Given the description of an element on the screen output the (x, y) to click on. 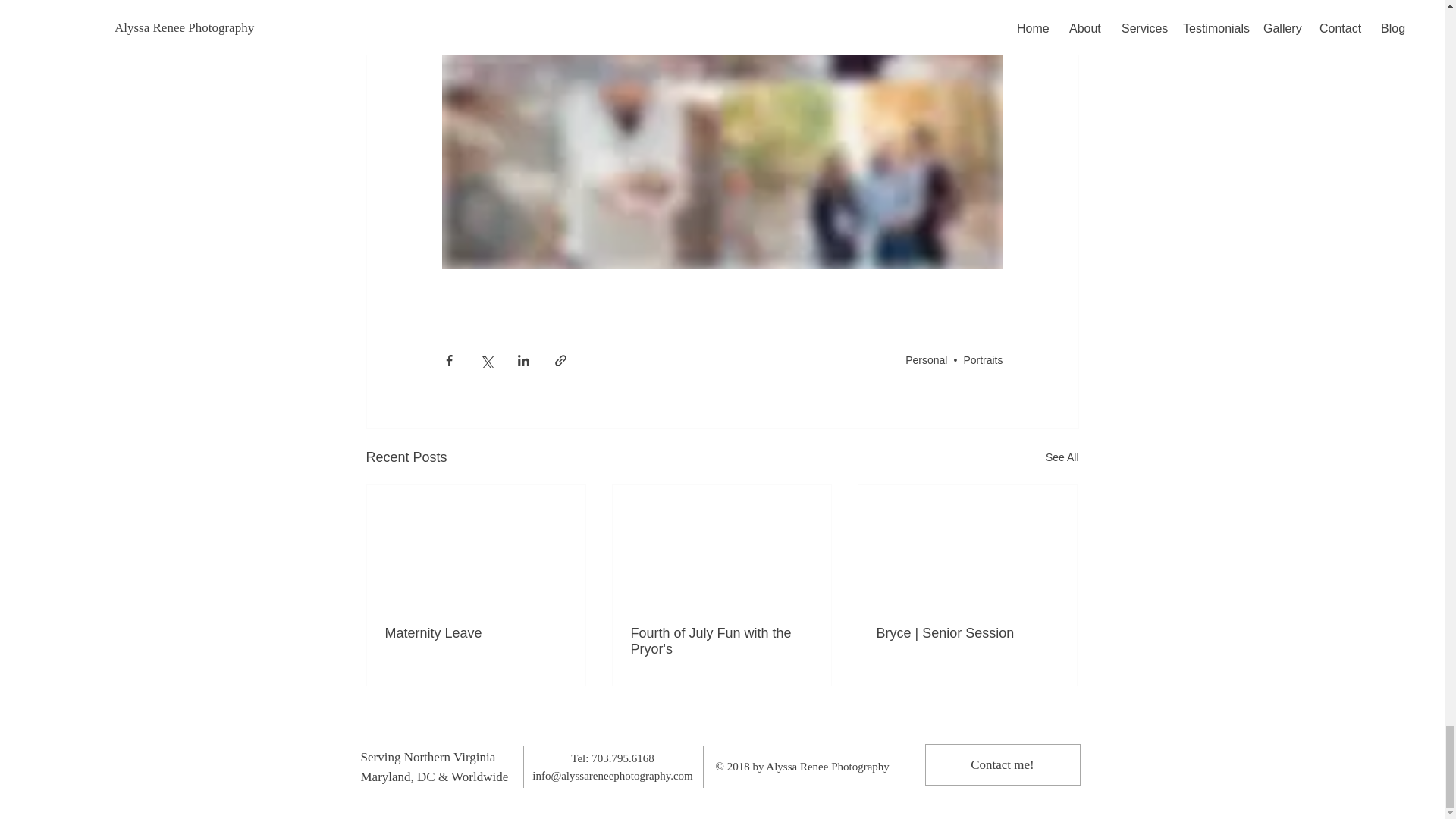
Contact me! (1002, 764)
Maternity Leave (476, 633)
See All (1061, 457)
Fourth of July Fun with the Pryor's (721, 641)
Portraits (982, 359)
Personal (926, 359)
